Given the description of an element on the screen output the (x, y) to click on. 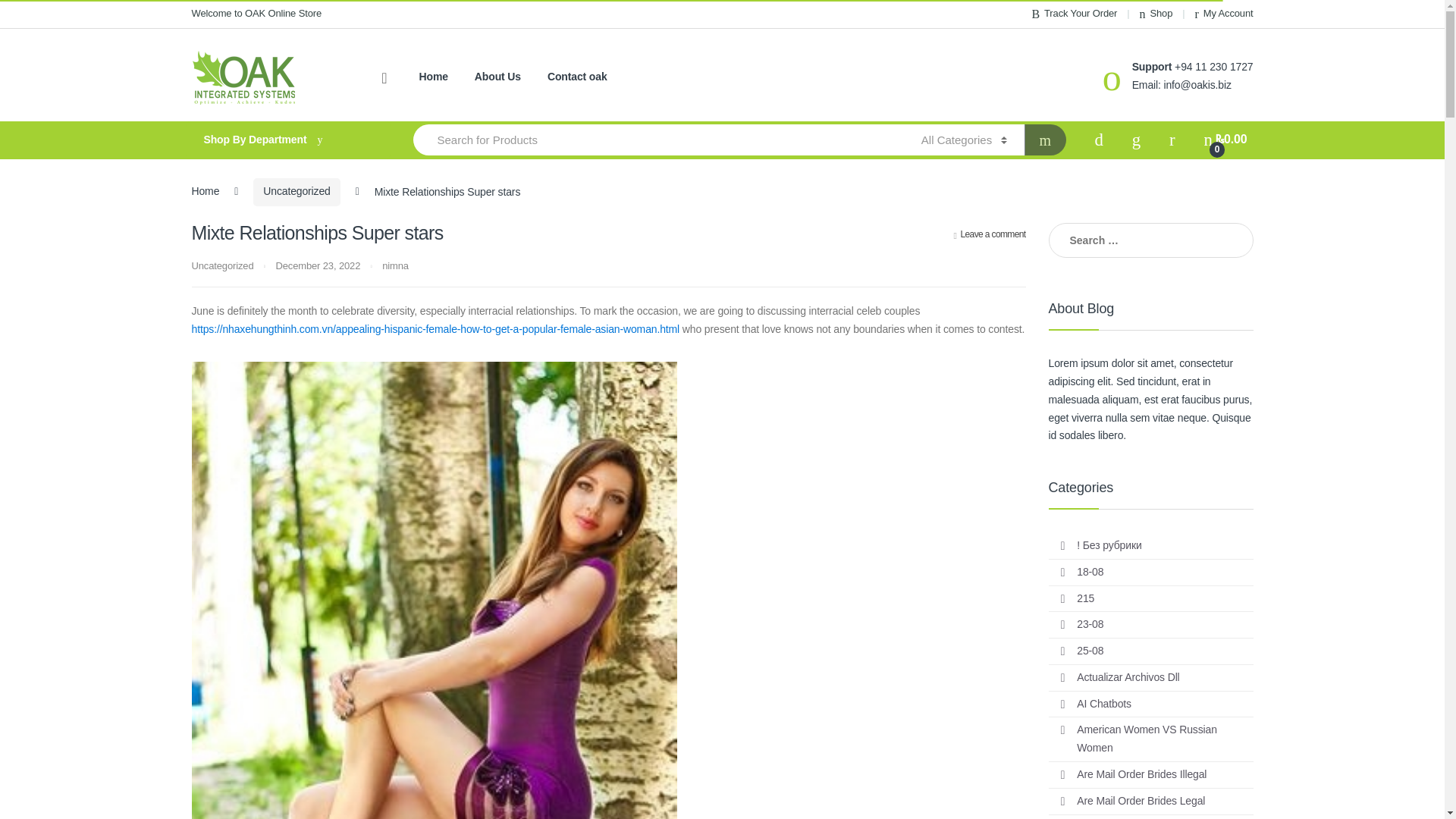
My Account (1224, 13)
About Us (497, 77)
My Account (1224, 13)
Shop (1156, 13)
Welcome to OAK Online Store (255, 13)
Contact oak (577, 77)
Track Your Order (1073, 13)
Welcome to OAK Online Store (255, 13)
About Us (497, 77)
Shop By Department (287, 139)
